Given the description of an element on the screen output the (x, y) to click on. 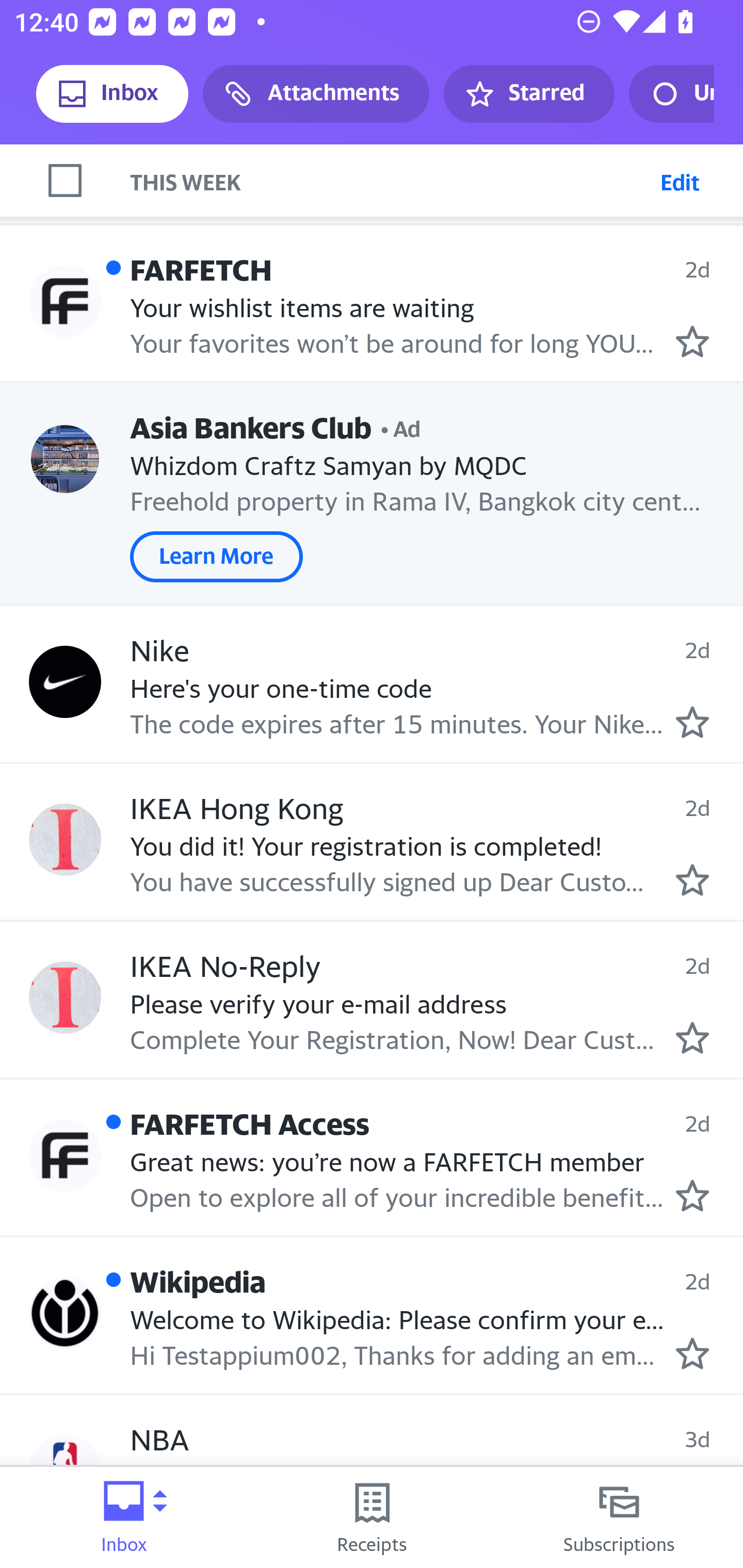
Attachments (315, 93)
Starred (528, 93)
Profile
FARFETCH (64, 300)
Mark as starred. (692, 341)
Profile
Nike (64, 682)
Mark as starred. (692, 722)
Profile
IKEA Hong Kong (64, 839)
Mark as starred. (692, 880)
Profile
IKEA No-Reply (64, 997)
Mark as starred. (692, 1037)
Profile
FARFETCH Access (64, 1155)
Mark as starred. (692, 1195)
Profile
Wikipedia (64, 1313)
Mark as starred. (692, 1353)
Inbox Folder picker (123, 1517)
Receipts (371, 1517)
Subscriptions (619, 1517)
